Given the description of an element on the screen output the (x, y) to click on. 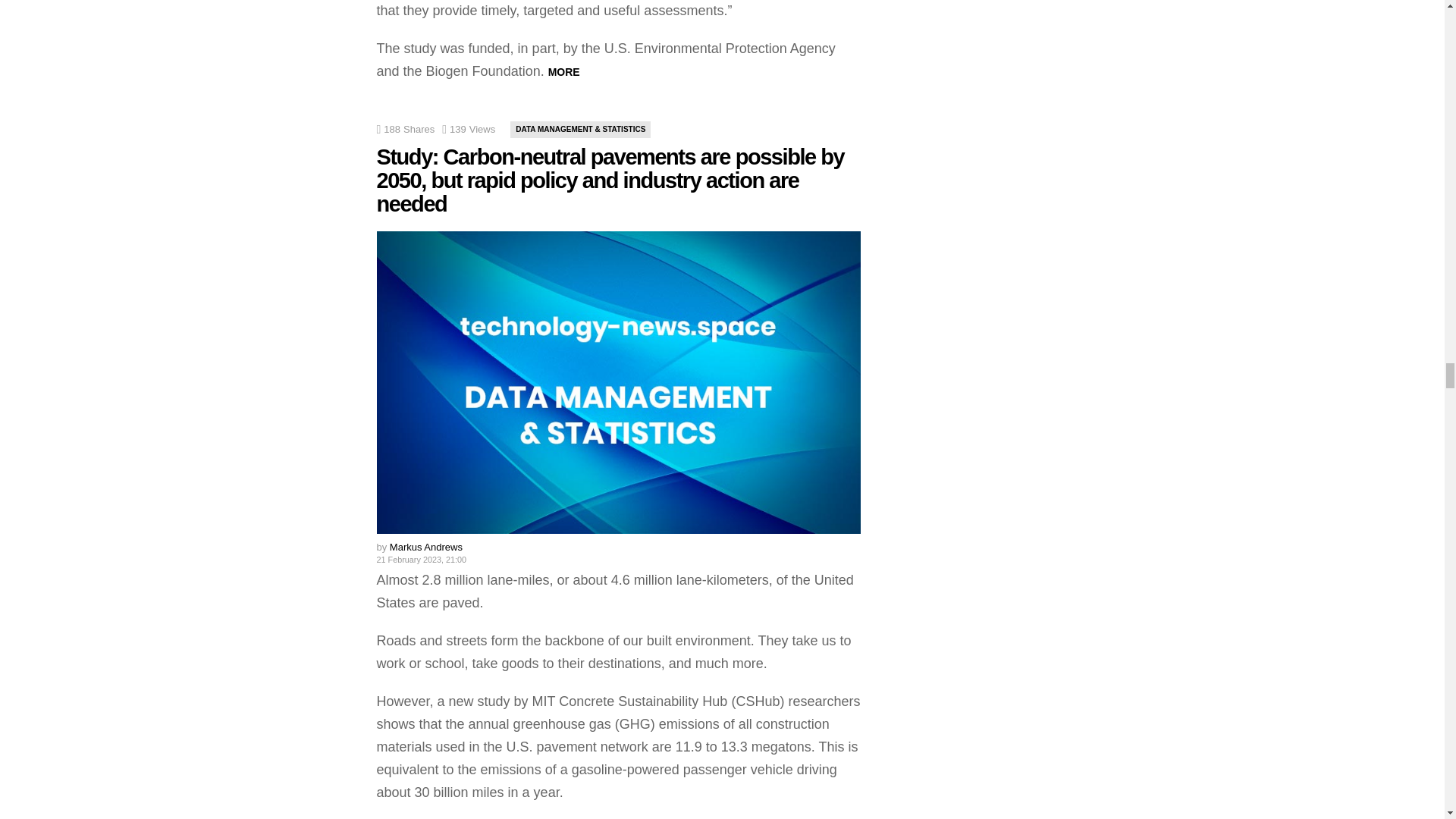
Posts by Markus Andrews (426, 546)
